Given the description of an element on the screen output the (x, y) to click on. 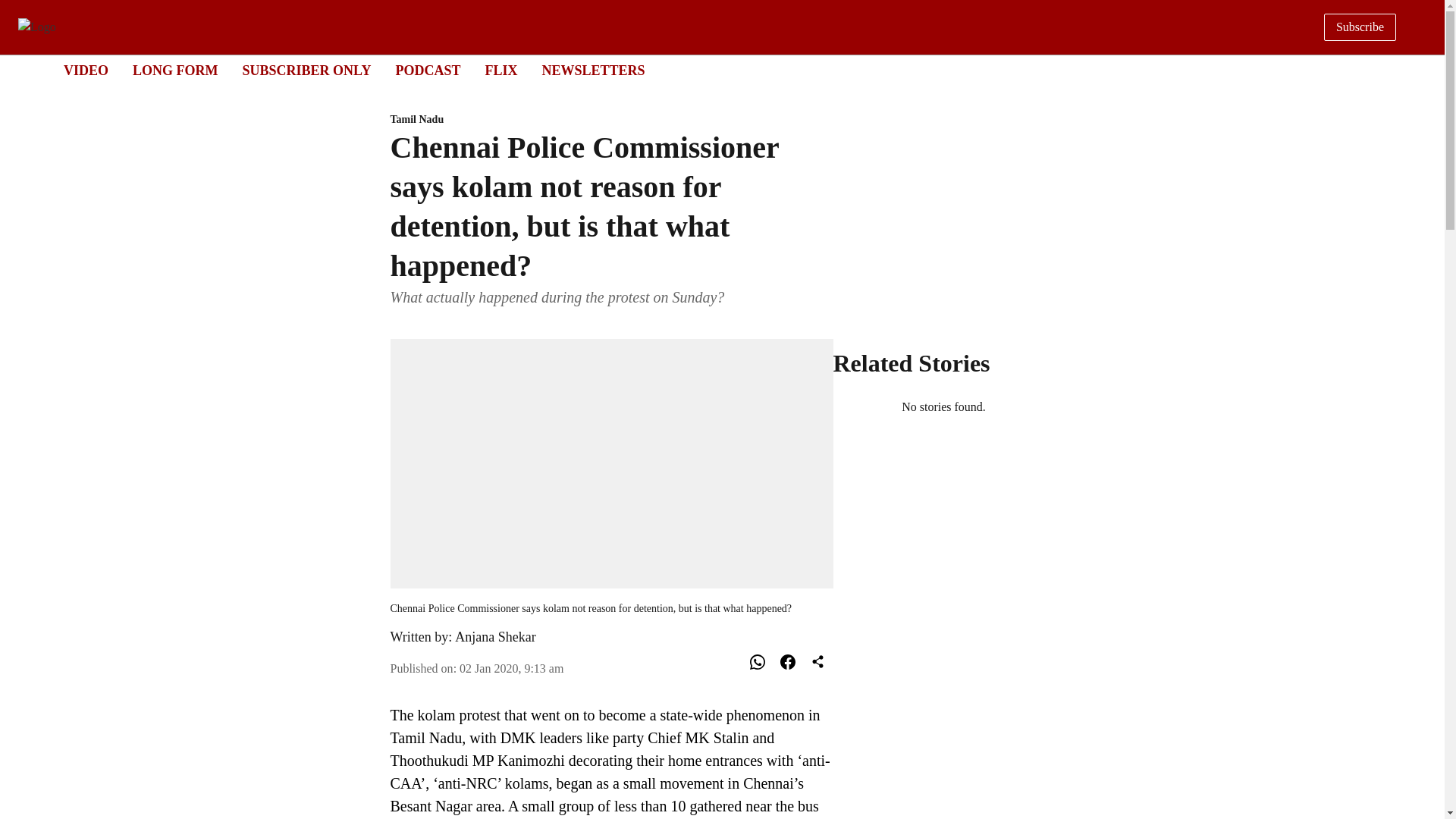
SUBSCRIBER ONLY (307, 70)
Anjana Shekar (707, 70)
2020-01-02 09:13 (494, 636)
FLIX (511, 667)
Tamil Nadu (500, 70)
VIDEO (611, 119)
NEWSLETTERS (85, 70)
LONG FORM (593, 70)
PODCAST (175, 70)
